Given the description of an element on the screen output the (x, y) to click on. 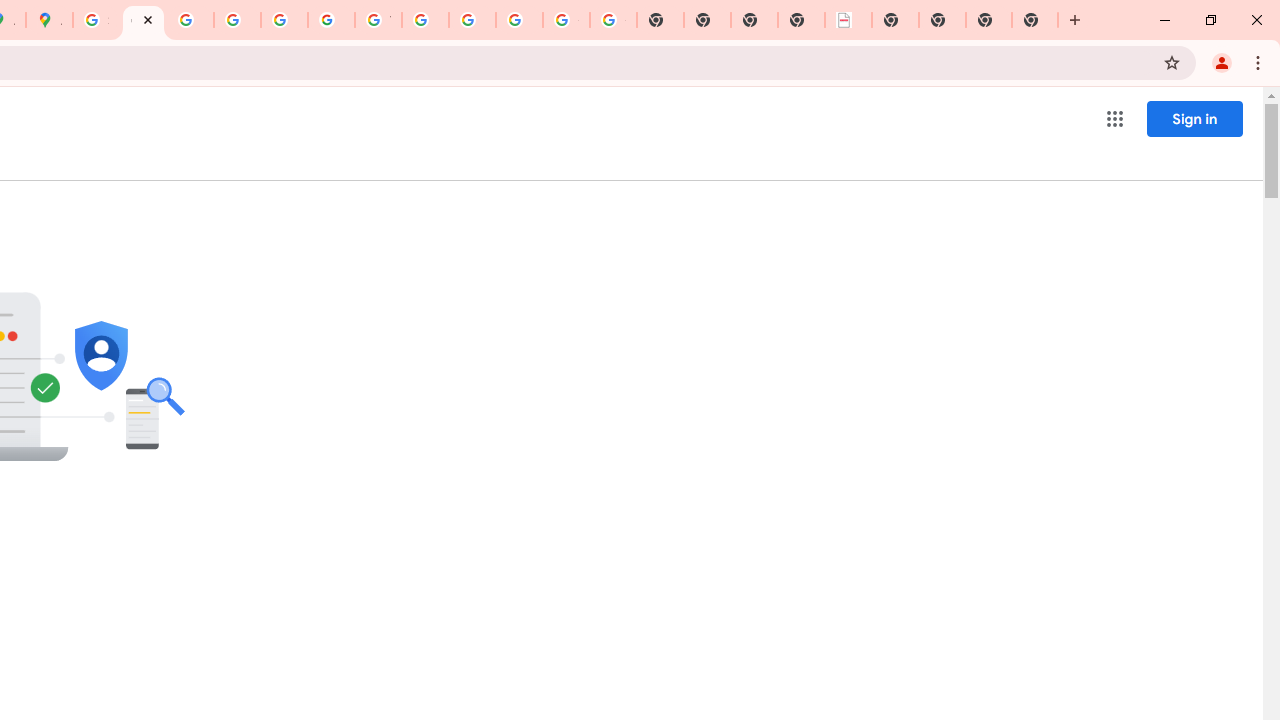
LAAD Defence & Security 2025 | BAE Systems (848, 20)
New Tab (989, 20)
